Given the description of an element on the screen output the (x, y) to click on. 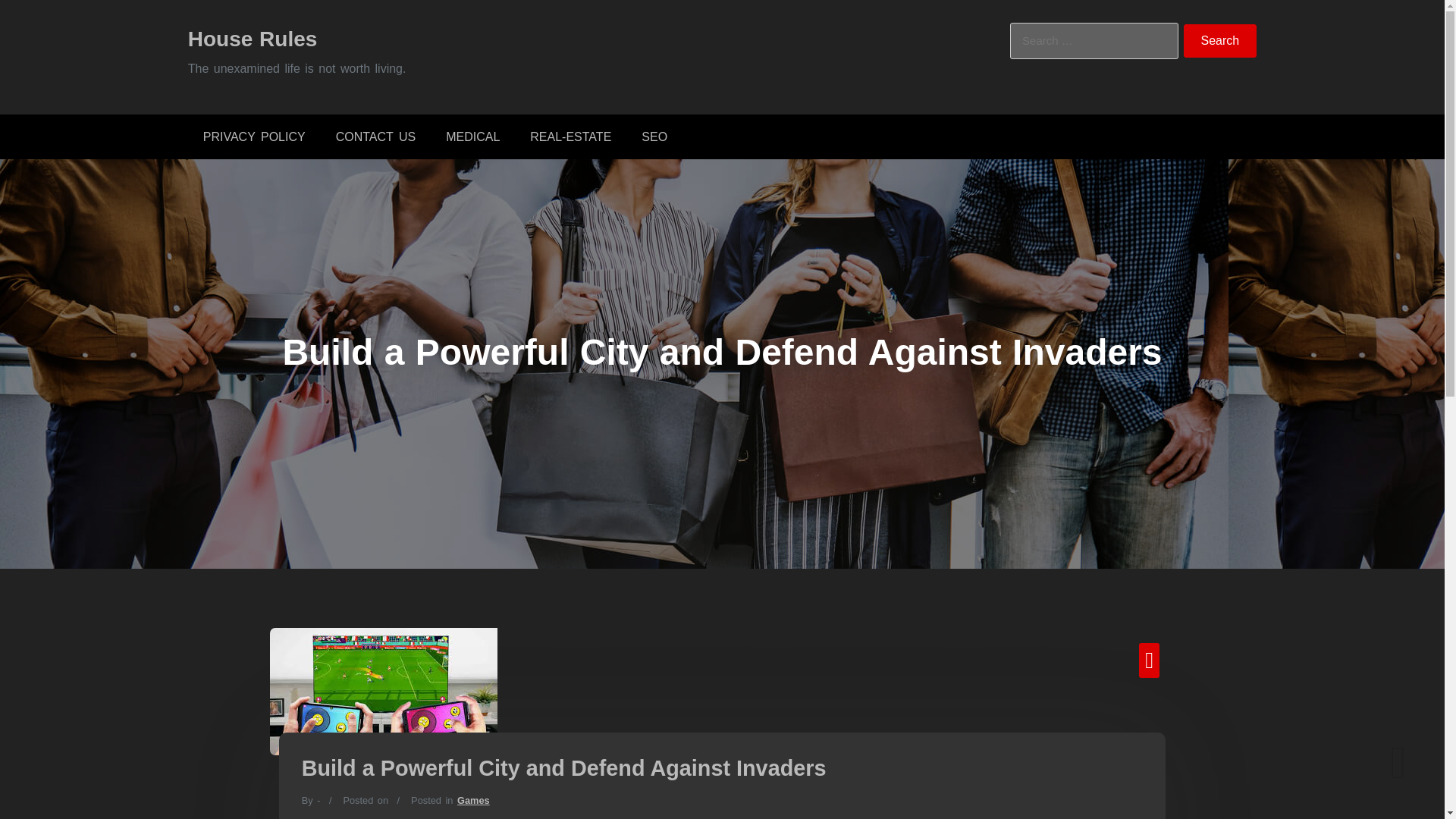
REAL-ESTATE (570, 136)
MEDICAL (472, 136)
SEO (654, 136)
Search (1220, 40)
PRIVACY POLICY (253, 136)
Games (473, 799)
House Rules (252, 38)
Search (1220, 40)
Search (1220, 40)
CONTACT US (375, 136)
